Given the description of an element on the screen output the (x, y) to click on. 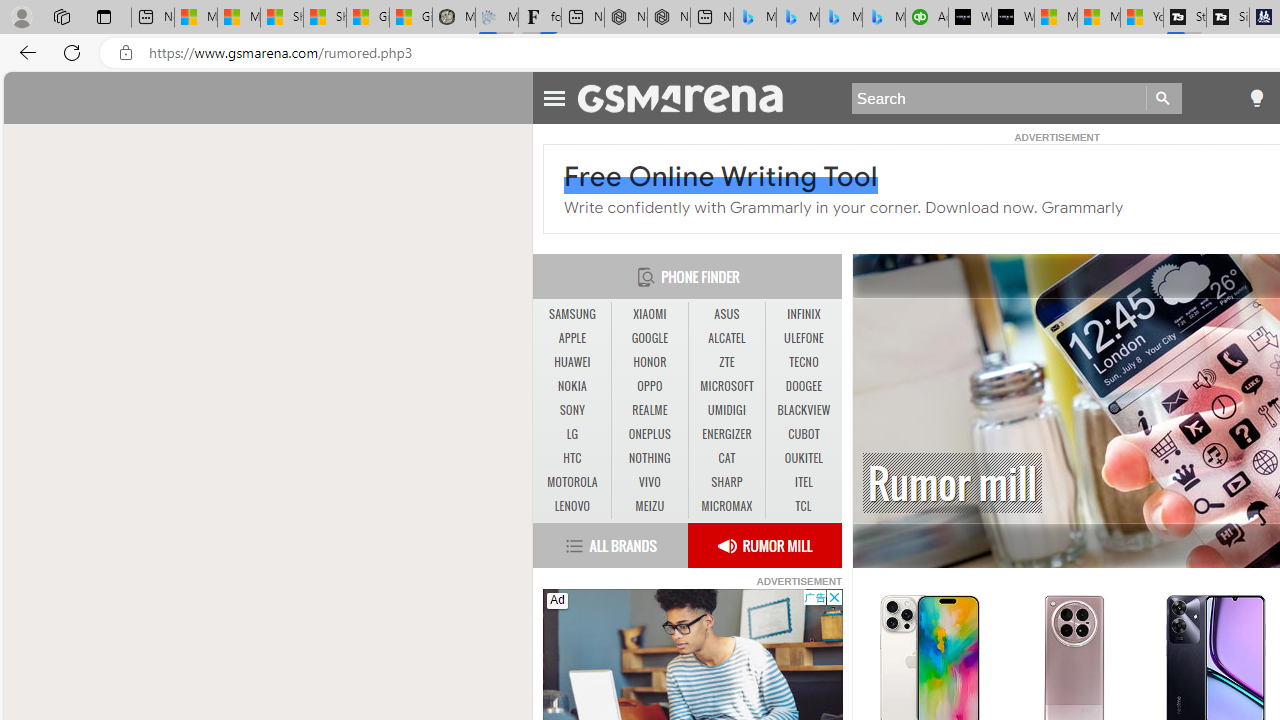
CUBOT (803, 434)
NOKIA (571, 385)
SHARP (726, 482)
Microsoft Start Sports (1055, 17)
ASUS (726, 314)
CAT (726, 458)
ASUS (726, 313)
ZTE (726, 362)
Microsoft Bing Travel - Stays in Bangkok, Bangkok, Thailand (798, 17)
OUKITEL (803, 457)
What's the best AI voice generator? - voice.ai (1013, 17)
MEIZU (649, 506)
Microsoft Bing Travel - Shangri-La Hotel Bangkok (883, 17)
